Given the description of an element on the screen output the (x, y) to click on. 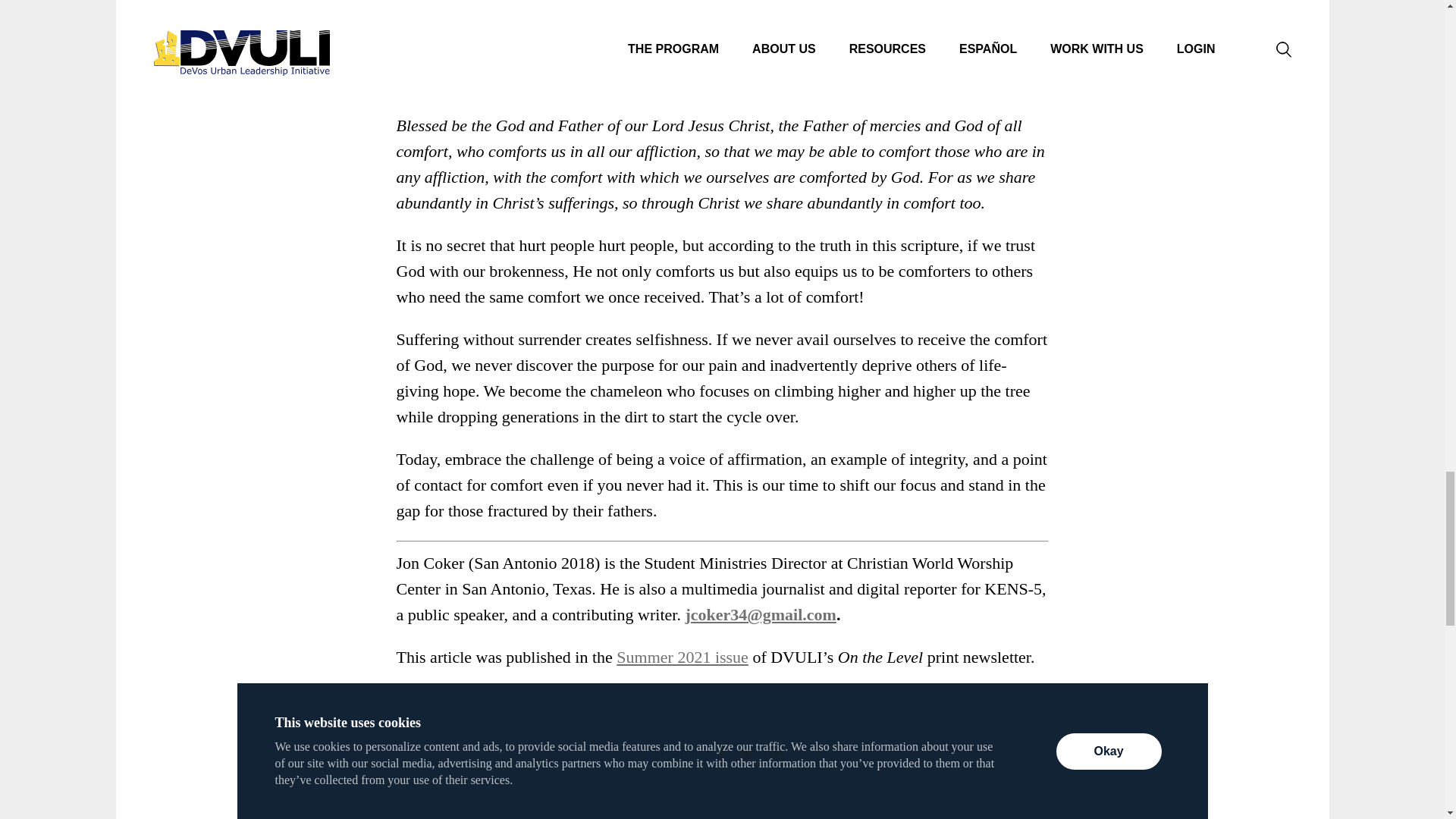
Summer 2021 issue (681, 656)
